Given the description of an element on the screen output the (x, y) to click on. 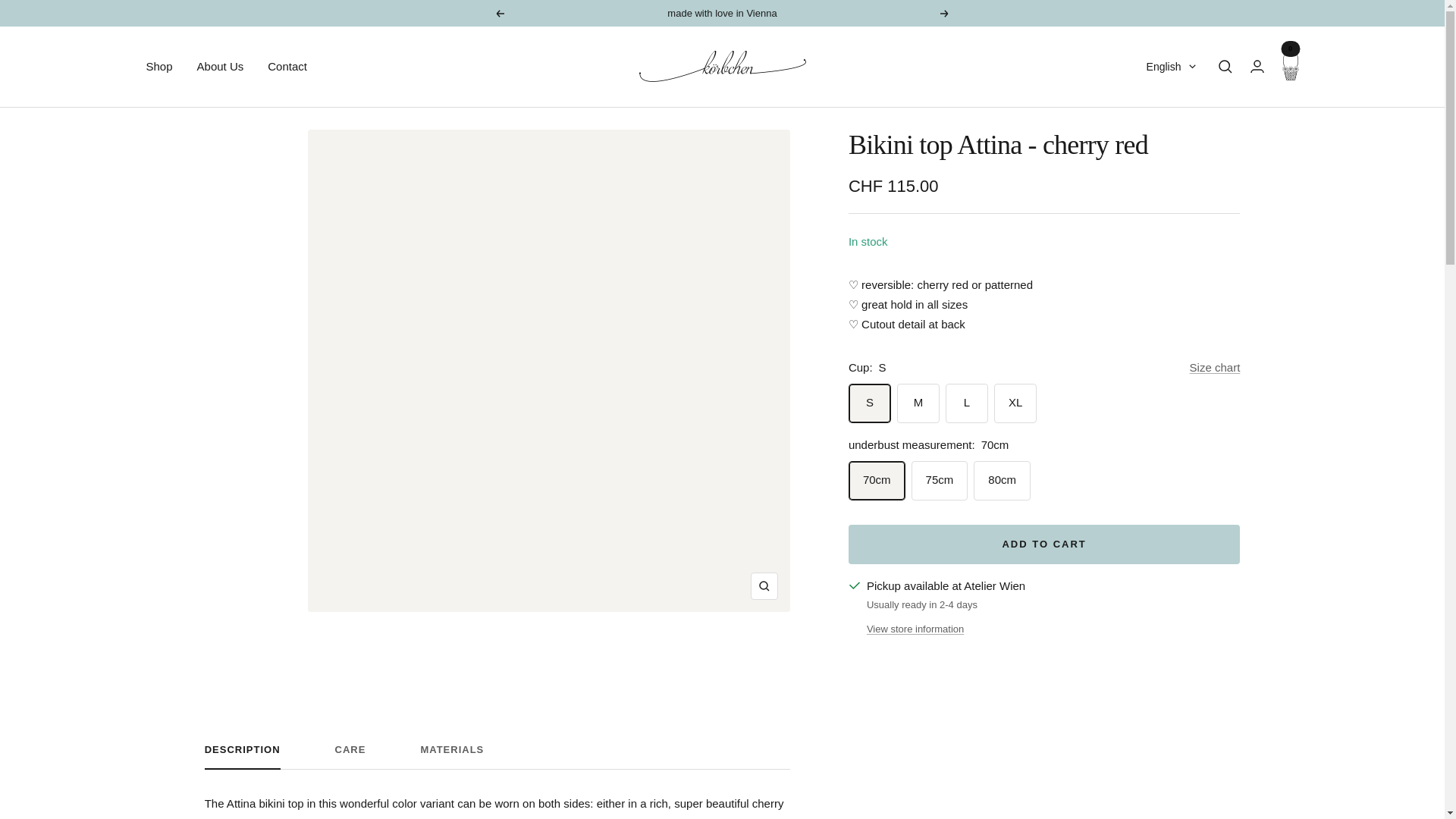
English (1171, 66)
en (1161, 143)
Previous (499, 12)
Contact (287, 66)
